Given the description of an element on the screen output the (x, y) to click on. 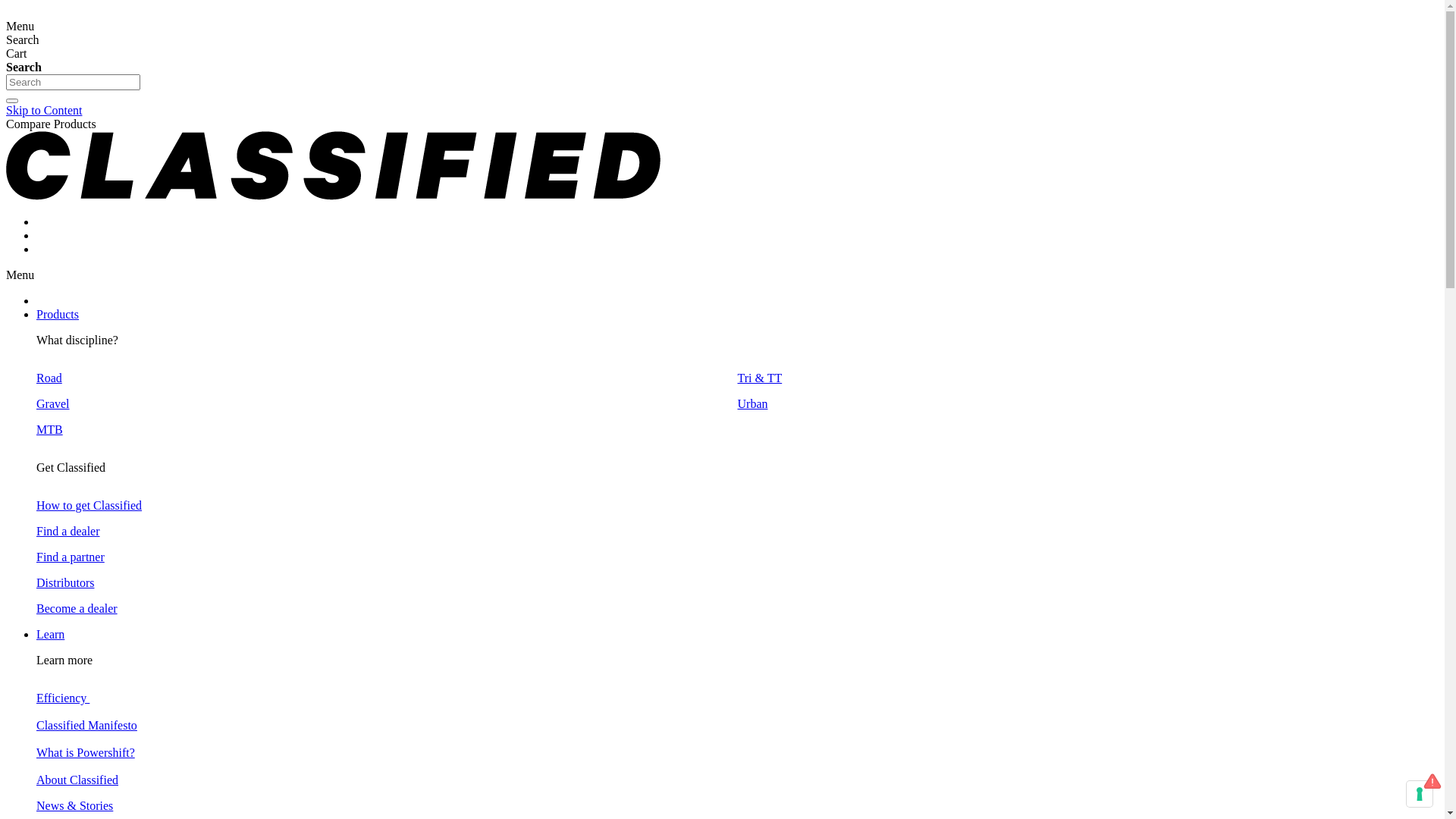
Classified Manifesto Element type: text (86, 724)
Gravel Element type: text (52, 403)
Compare Products Element type: text (51, 123)
Distributors Element type: text (65, 582)
Urban Element type: text (752, 403)
MTB Element type: text (49, 429)
Find a partner Element type: text (70, 556)
Tri & TT Element type: text (759, 377)
News & Stories Element type: text (74, 805)
Search Element type: hover (12, 100)
Products Element type: text (57, 313)
Road Element type: text (49, 377)
Efficiency  Element type: text (62, 697)
Skip to Content Element type: text (43, 109)
How to get Classified Element type: text (88, 504)
About Classified Element type: text (77, 779)
What is Powershift? Element type: text (85, 752)
Learn Element type: text (50, 633)
Become a dealer Element type: text (76, 608)
Find a dealer Element type: text (68, 530)
